Given the description of an element on the screen output the (x, y) to click on. 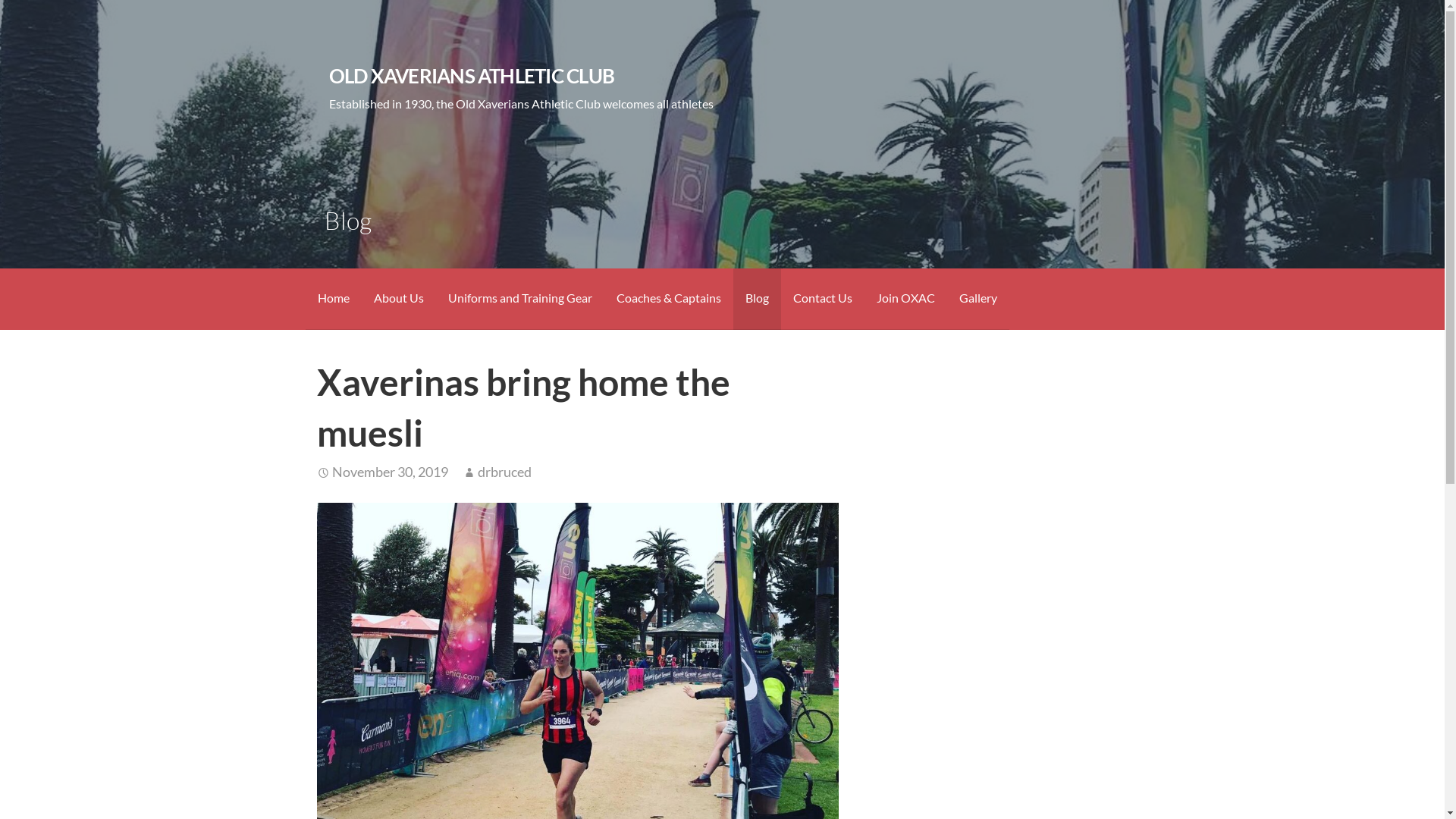
About Us Element type: text (397, 298)
Home Element type: text (332, 298)
Blog Element type: text (756, 298)
OLD XAVERIANS ATHLETIC CLUB Element type: text (471, 75)
Join OXAC Element type: text (905, 298)
Gallery Element type: text (977, 298)
Uniforms and Training Gear Element type: text (519, 298)
drbruced Element type: text (504, 471)
Contact Us Element type: text (822, 298)
Coaches & Captains Element type: text (667, 298)
